Given the description of an element on the screen output the (x, y) to click on. 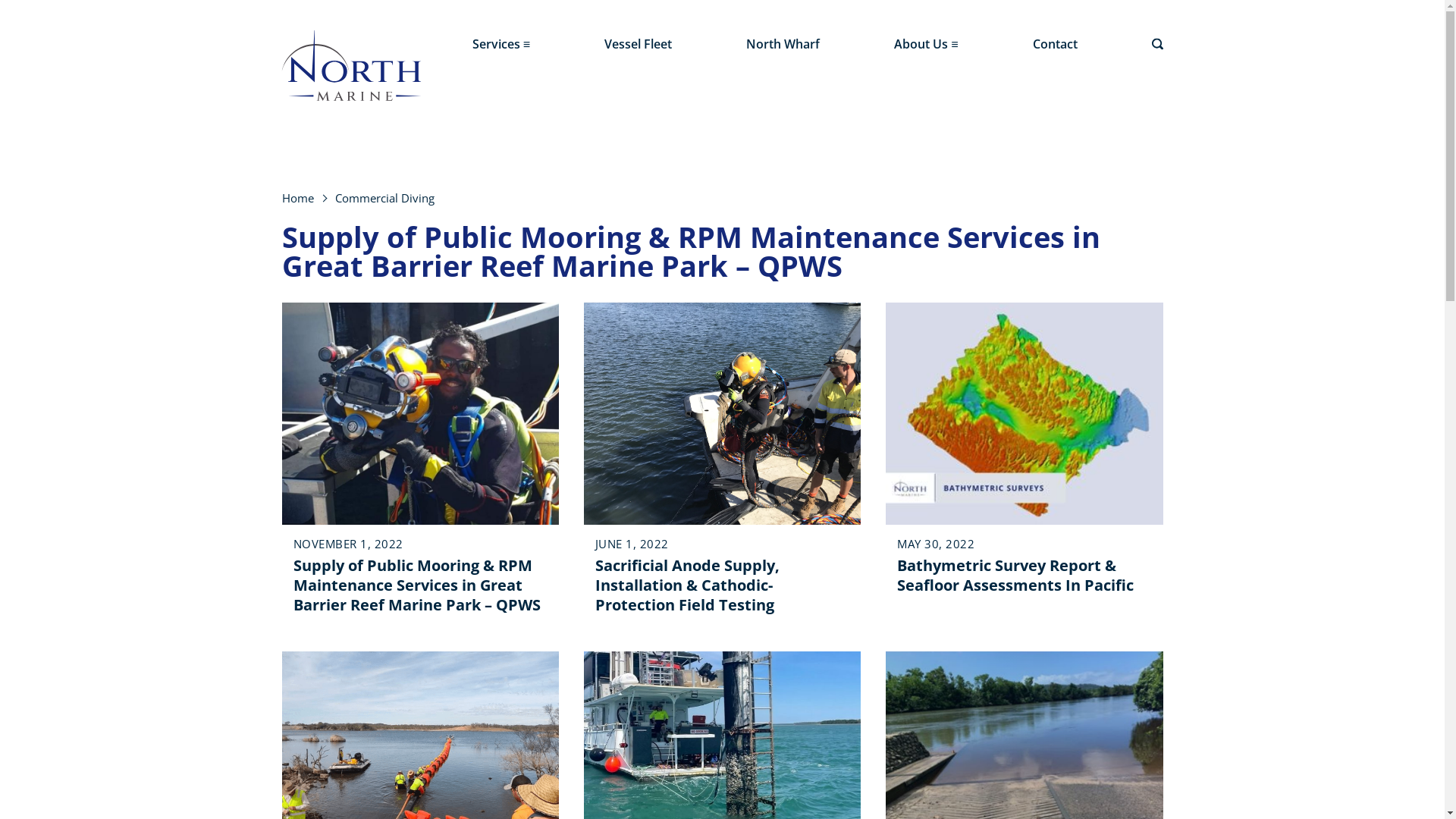
Home Element type: text (297, 197)
Vessel Fleet Element type: text (638, 43)
Contact Element type: text (1053, 43)
North Wharf Element type: text (782, 43)
